Given the description of an element on the screen output the (x, y) to click on. 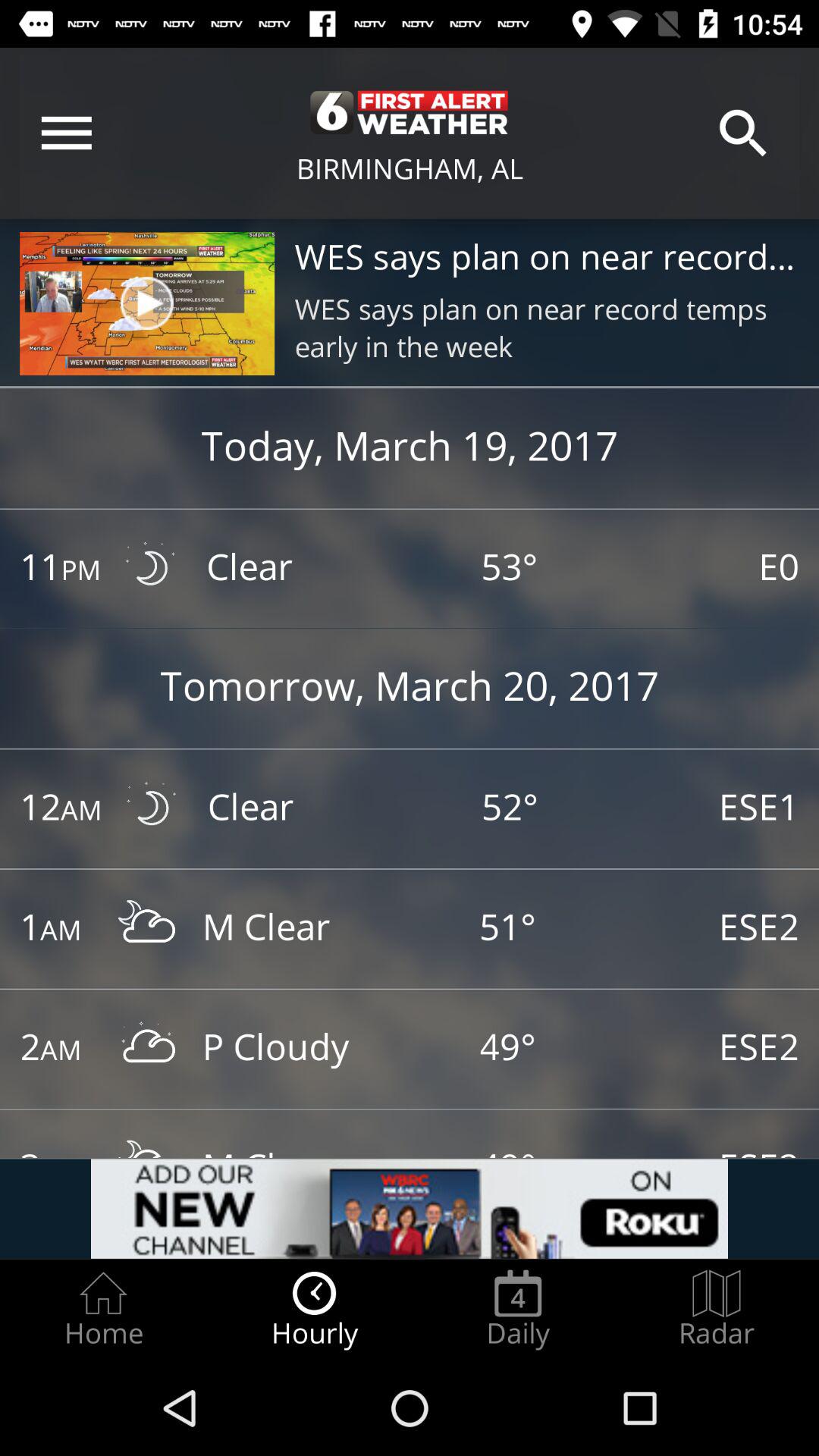
jump until daily (518, 1309)
